Given the description of an element on the screen output the (x, y) to click on. 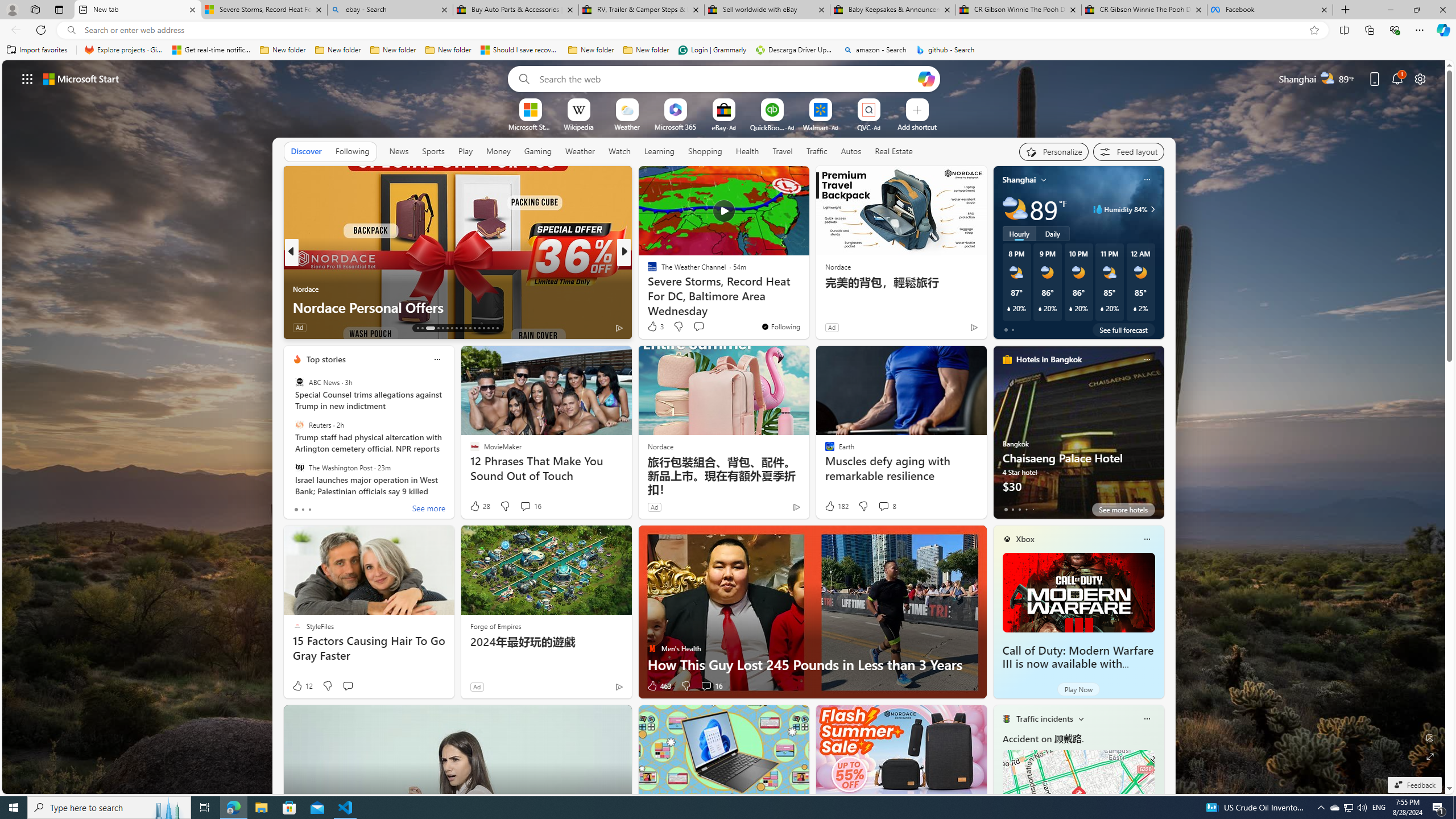
13 Like (652, 327)
Dailymotion (647, 288)
Change scenarios (1080, 718)
182 Like (835, 505)
Feed settings (1128, 151)
21 Indicators of Early Emotional Abuse That Are Easy to Miss (807, 298)
Traffic Title Traffic Light (1005, 718)
AutomationID: backgroundImagePicture (723, 426)
